Given the description of an element on the screen output the (x, y) to click on. 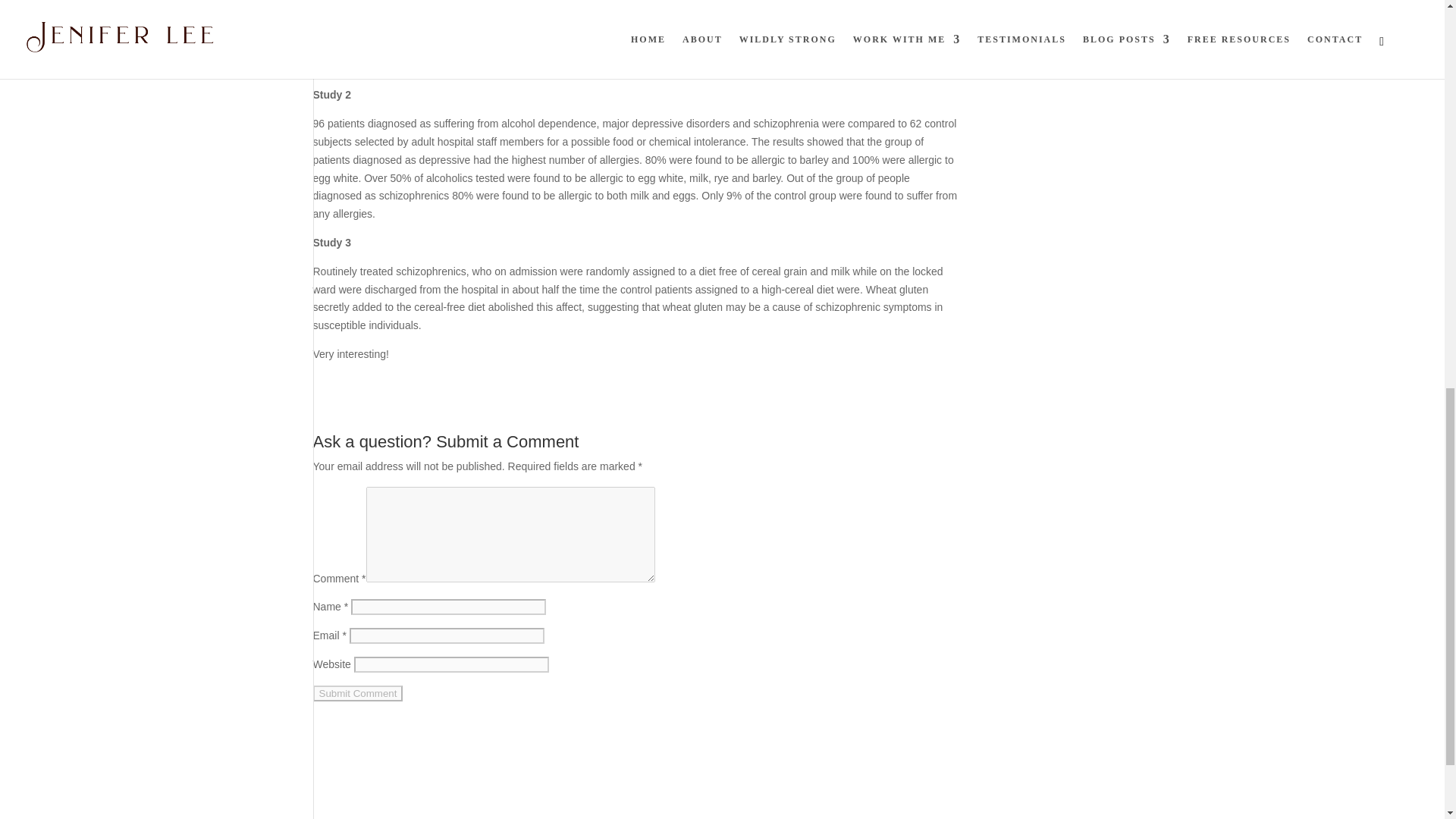
Submit Comment (358, 693)
Submit Comment (358, 693)
